Given the description of an element on the screen output the (x, y) to click on. 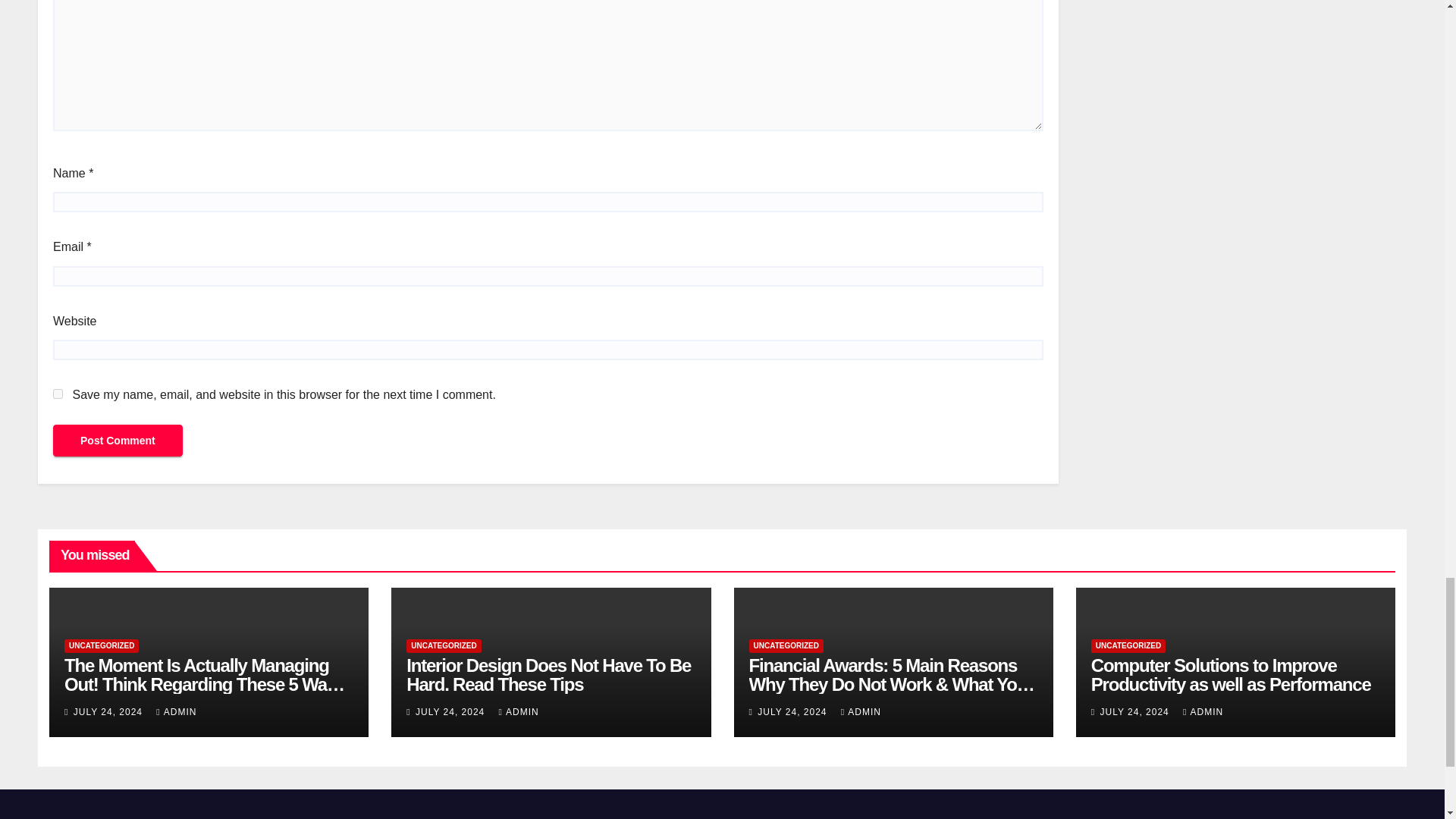
yes (57, 393)
Post Comment (117, 440)
Post Comment (117, 440)
